Given the description of an element on the screen output the (x, y) to click on. 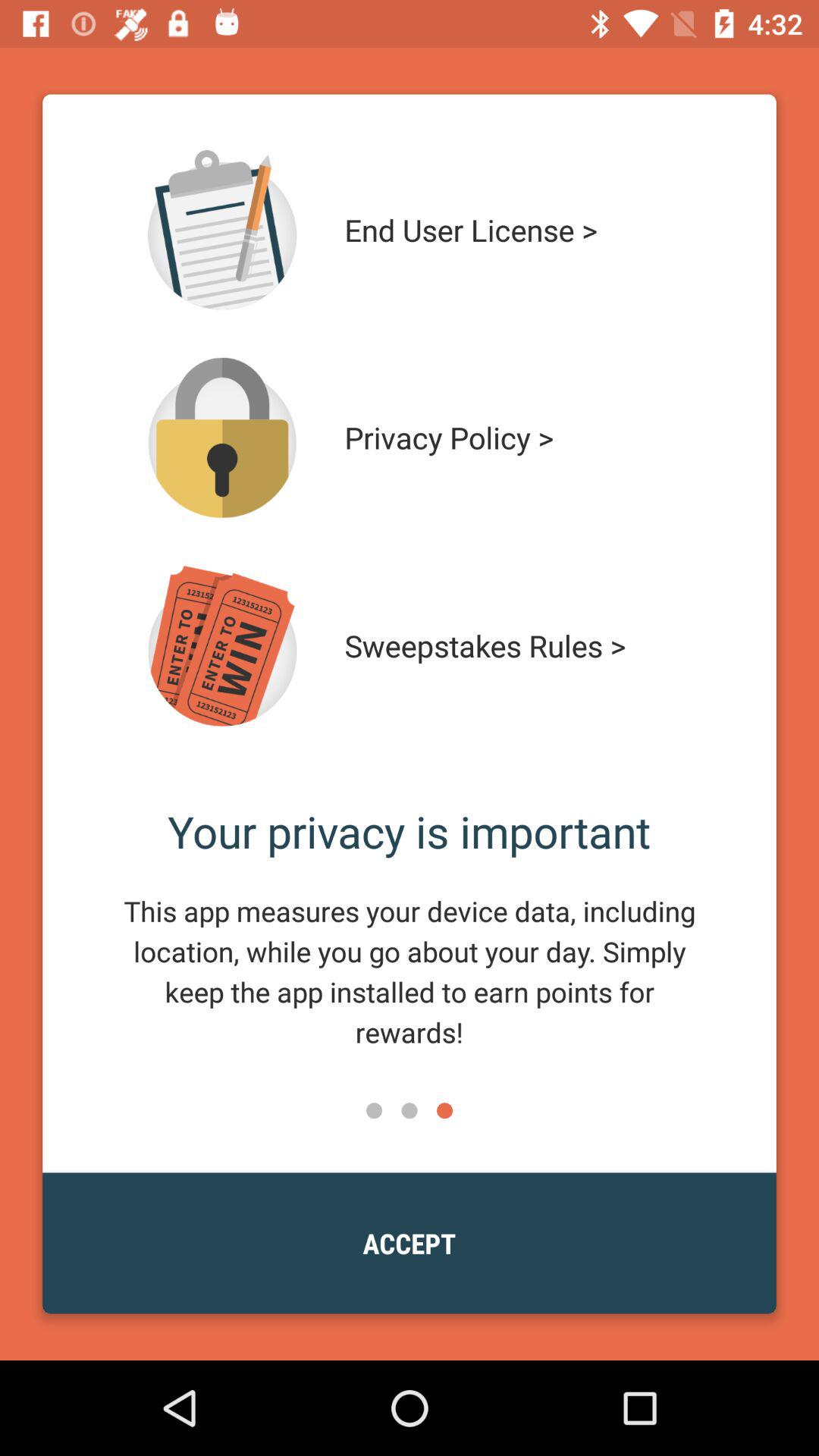
open privacy details (222, 437)
